Given the description of an element on the screen output the (x, y) to click on. 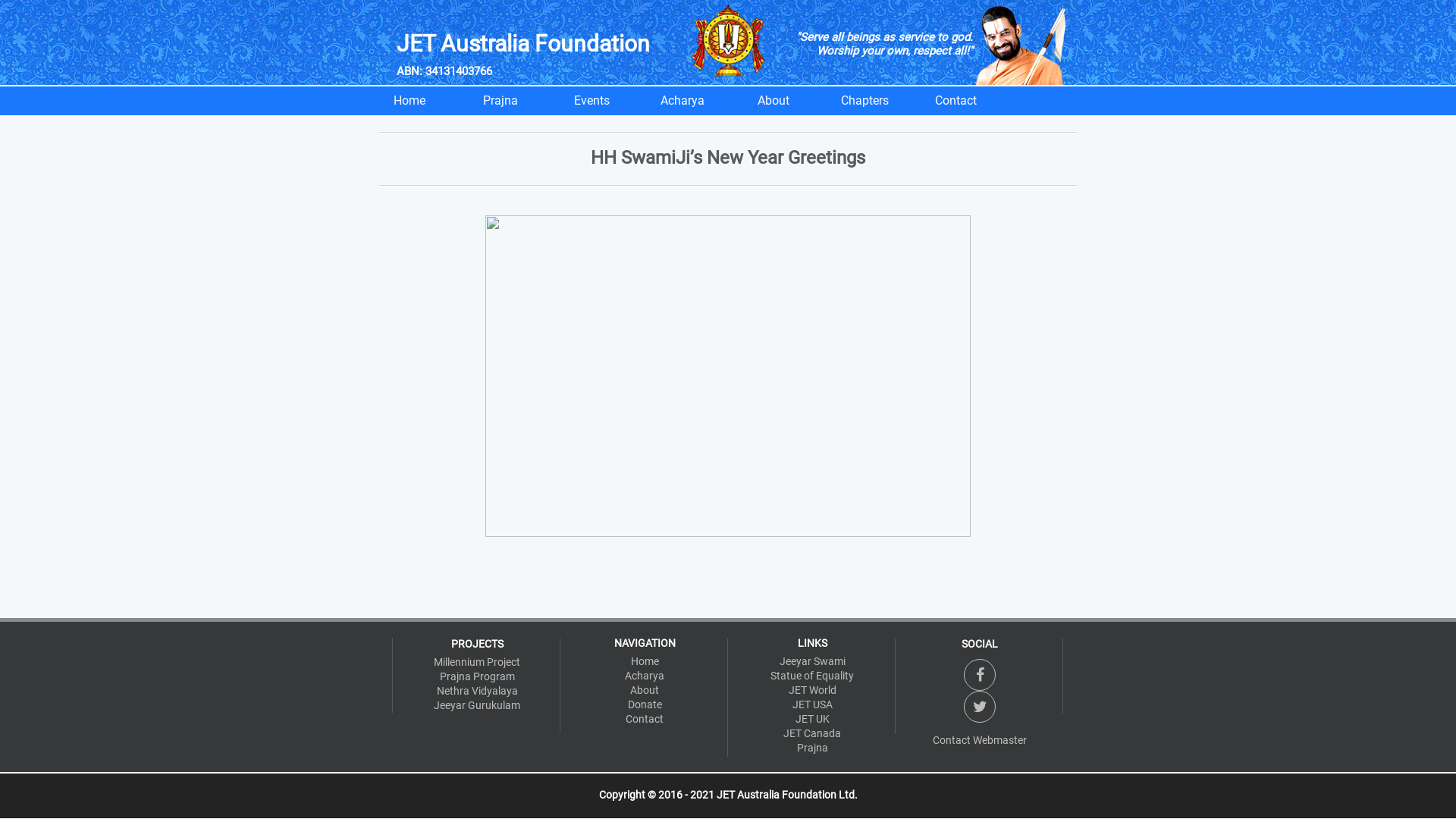
Contact Element type: text (644, 718)
JET USA Element type: text (811, 704)
About Element type: text (773, 100)
Jeeyar Swami Element type: text (811, 661)
Acharya Element type: text (682, 100)
Home Element type: text (409, 100)
Twitter Element type: hover (979, 706)
Contact Element type: text (955, 100)
Prajna Element type: text (811, 747)
Jeeyar Gurukulam Element type: text (476, 705)
Prajna Program Element type: text (476, 676)
Contact Webmaster Element type: text (979, 740)
Facebook Element type: hover (979, 674)
Acharya Element type: text (644, 675)
Prajna Element type: text (500, 100)
Nethra Vidyalaya Element type: text (476, 690)
JET World Element type: text (811, 690)
Statue of Equality Element type: text (811, 675)
Home Element type: text (644, 661)
Chapters Element type: text (864, 100)
JET UK Element type: text (811, 718)
Events Element type: text (591, 100)
Millennium Project Element type: text (476, 661)
Donate Element type: text (644, 704)
About Element type: text (644, 690)
JET Canada Element type: text (811, 733)
